Given the description of an element on the screen output the (x, y) to click on. 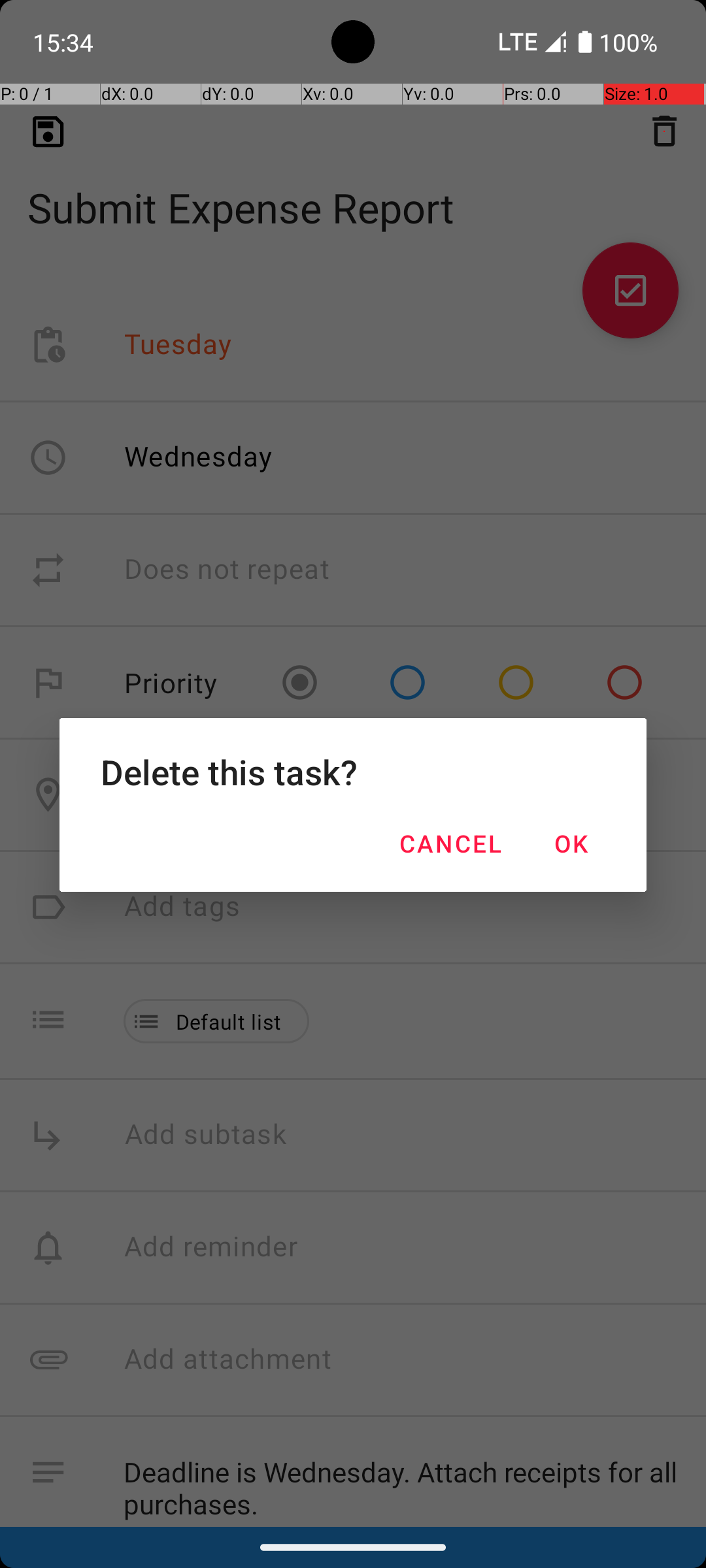
Delete this task? Element type: android.widget.TextView (352, 771)
